Given the description of an element on the screen output the (x, y) to click on. 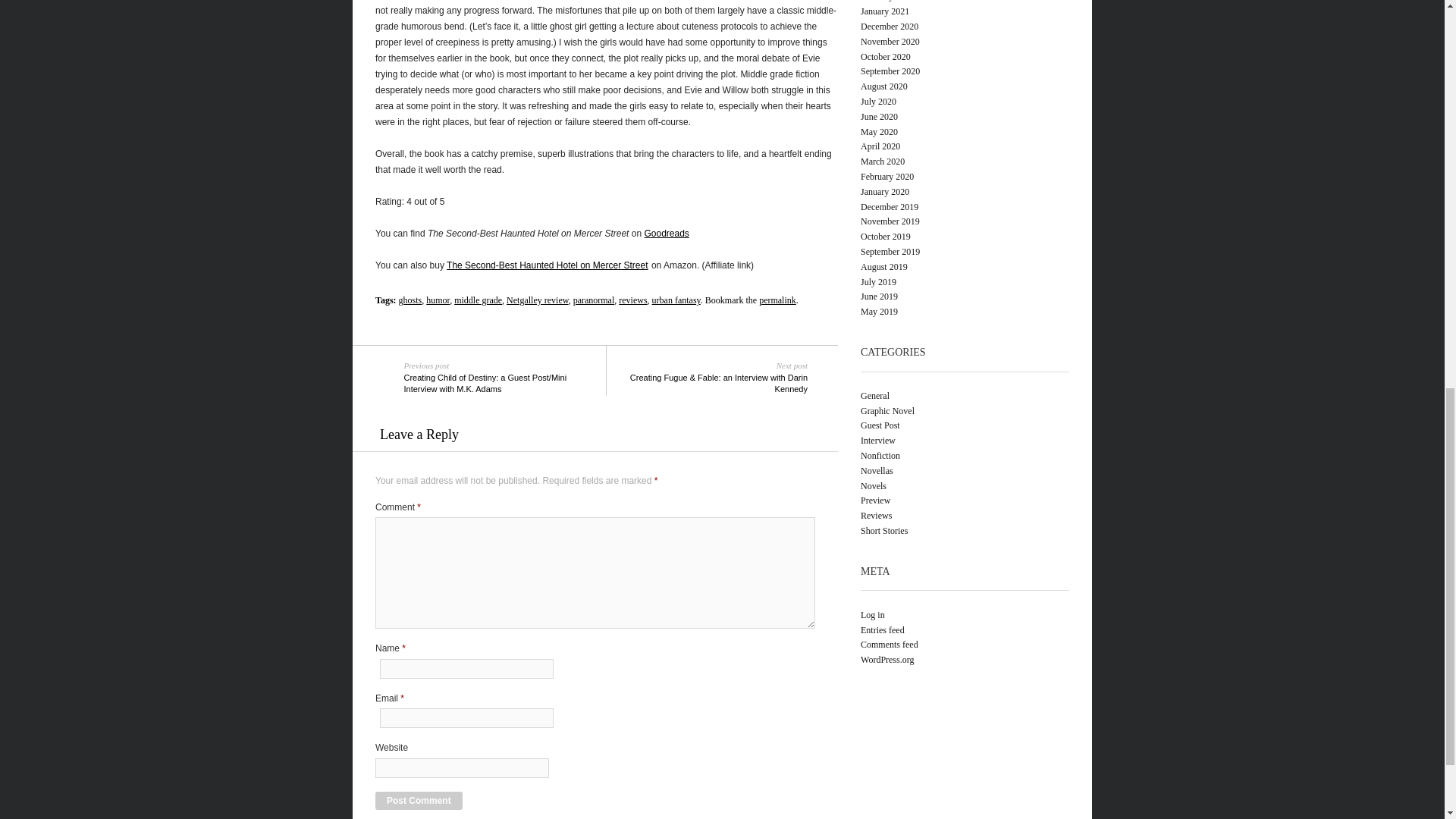
ghosts (410, 299)
paranormal (593, 299)
Netgalley review (537, 299)
Post Comment (419, 800)
humor (437, 299)
middle grade (478, 299)
reviews (632, 299)
permalink (777, 299)
Goodreads (665, 233)
Post Comment (419, 800)
The Second-Best Haunted Hotel on Mercer Street (546, 265)
urban fantasy (676, 299)
